Given the description of an element on the screen output the (x, y) to click on. 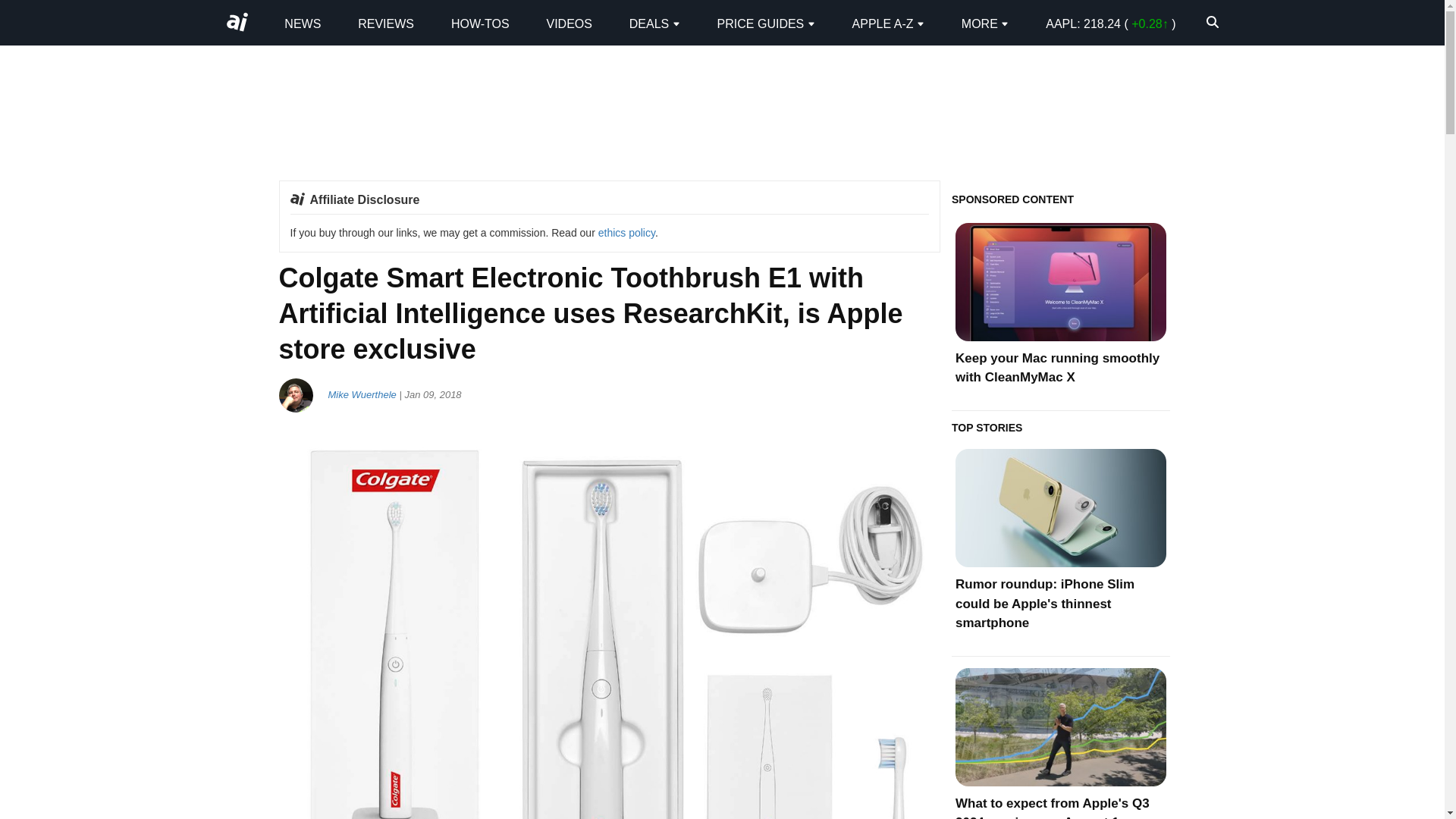
Reviews (385, 23)
News (301, 23)
HOW-TOS (480, 23)
How-Tos (480, 23)
Videos (568, 23)
NEWS (301, 23)
REVIEWS (385, 23)
VIDEOS (568, 23)
